Given the description of an element on the screen output the (x, y) to click on. 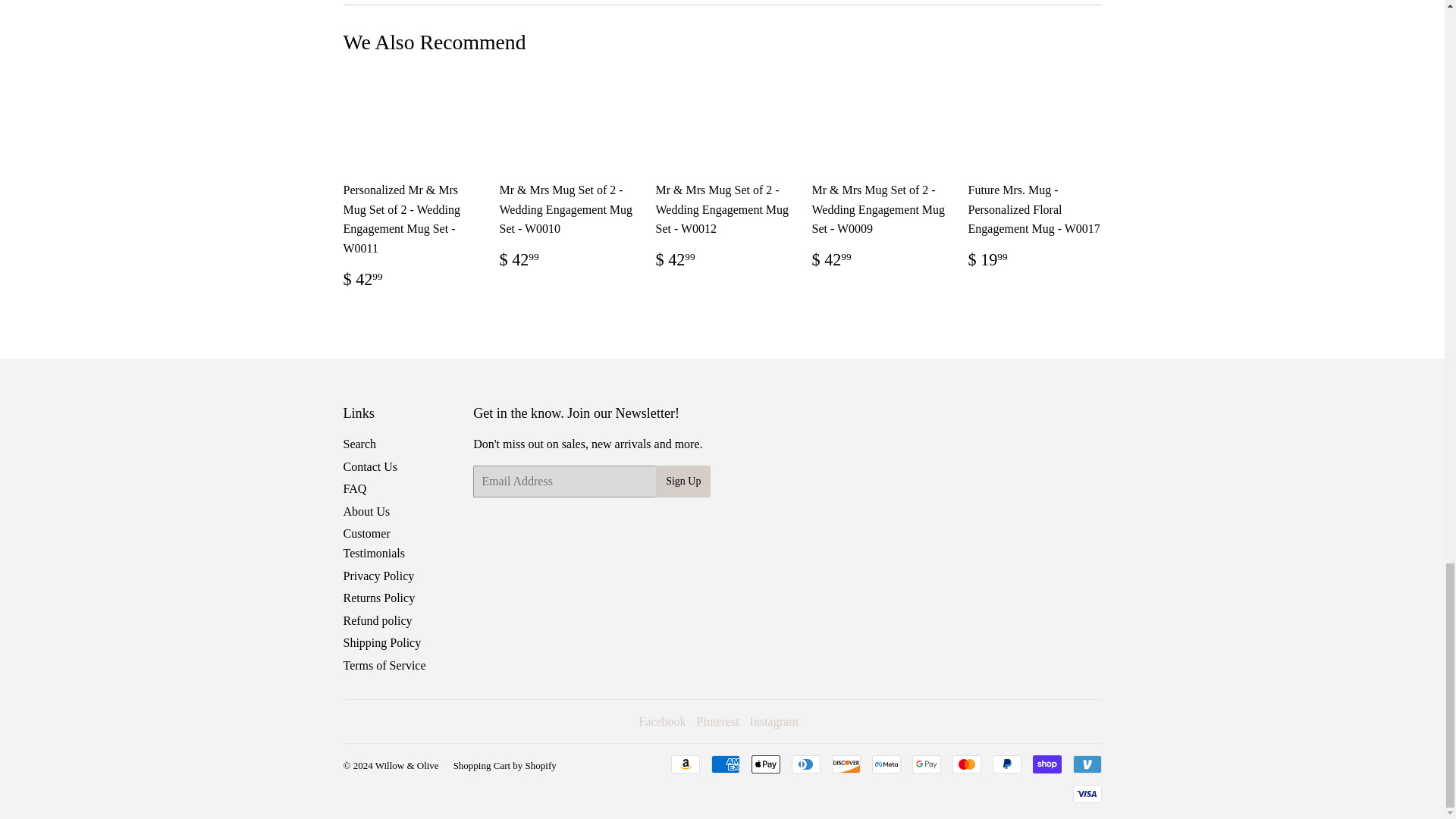
Shop Pay (1046, 764)
Diners Club (806, 764)
PayPal (1005, 764)
American Express (725, 764)
Amazon (683, 764)
Mastercard (966, 764)
Discover (845, 764)
Meta Pay (886, 764)
Google Pay (925, 764)
Venmo (1085, 764)
